Given the description of an element on the screen output the (x, y) to click on. 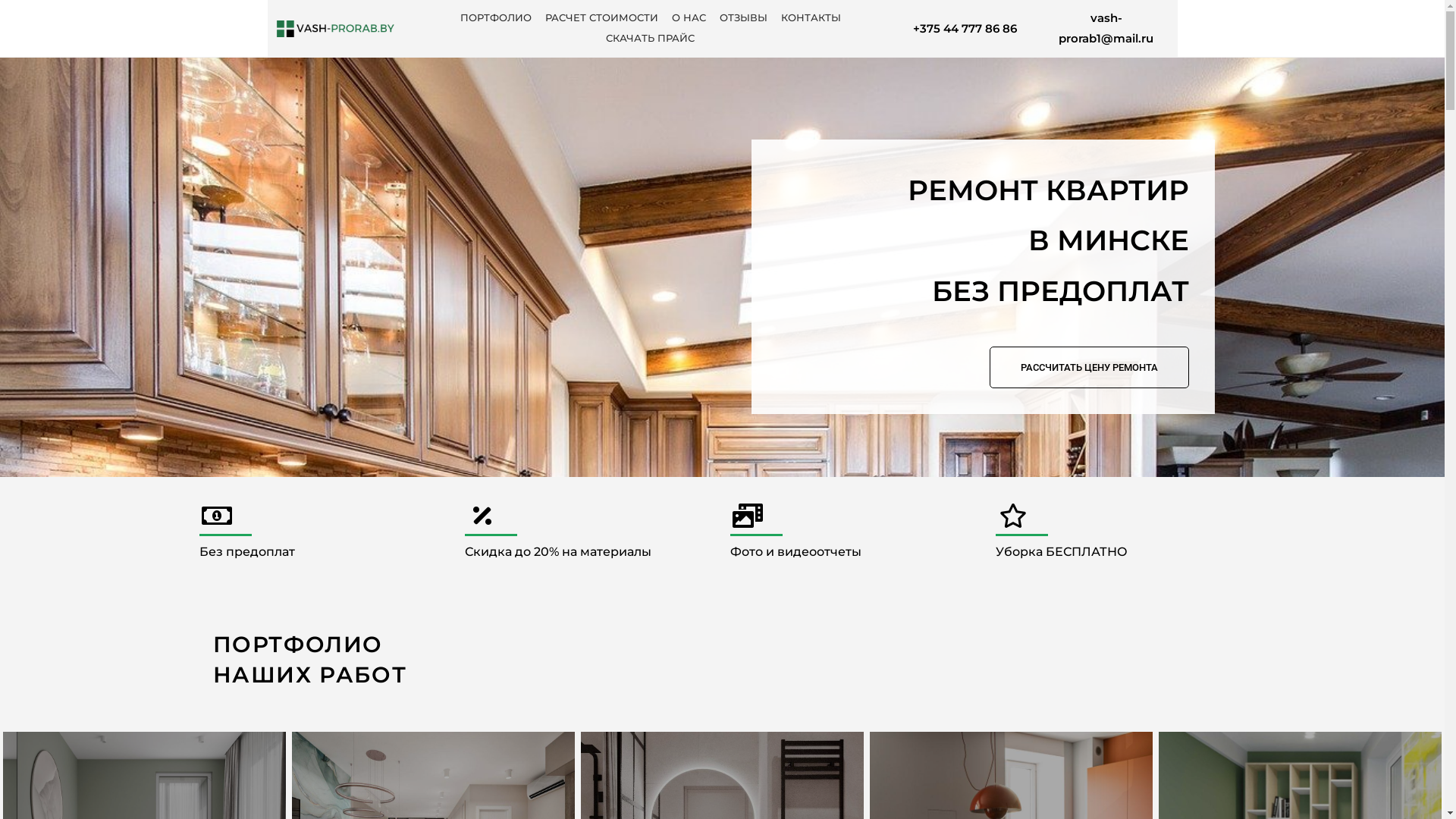
+375 44 777 86 86 Element type: text (964, 28)
vash-prorab1@mail.ru Element type: text (1105, 27)
